Given the description of an element on the screen output the (x, y) to click on. 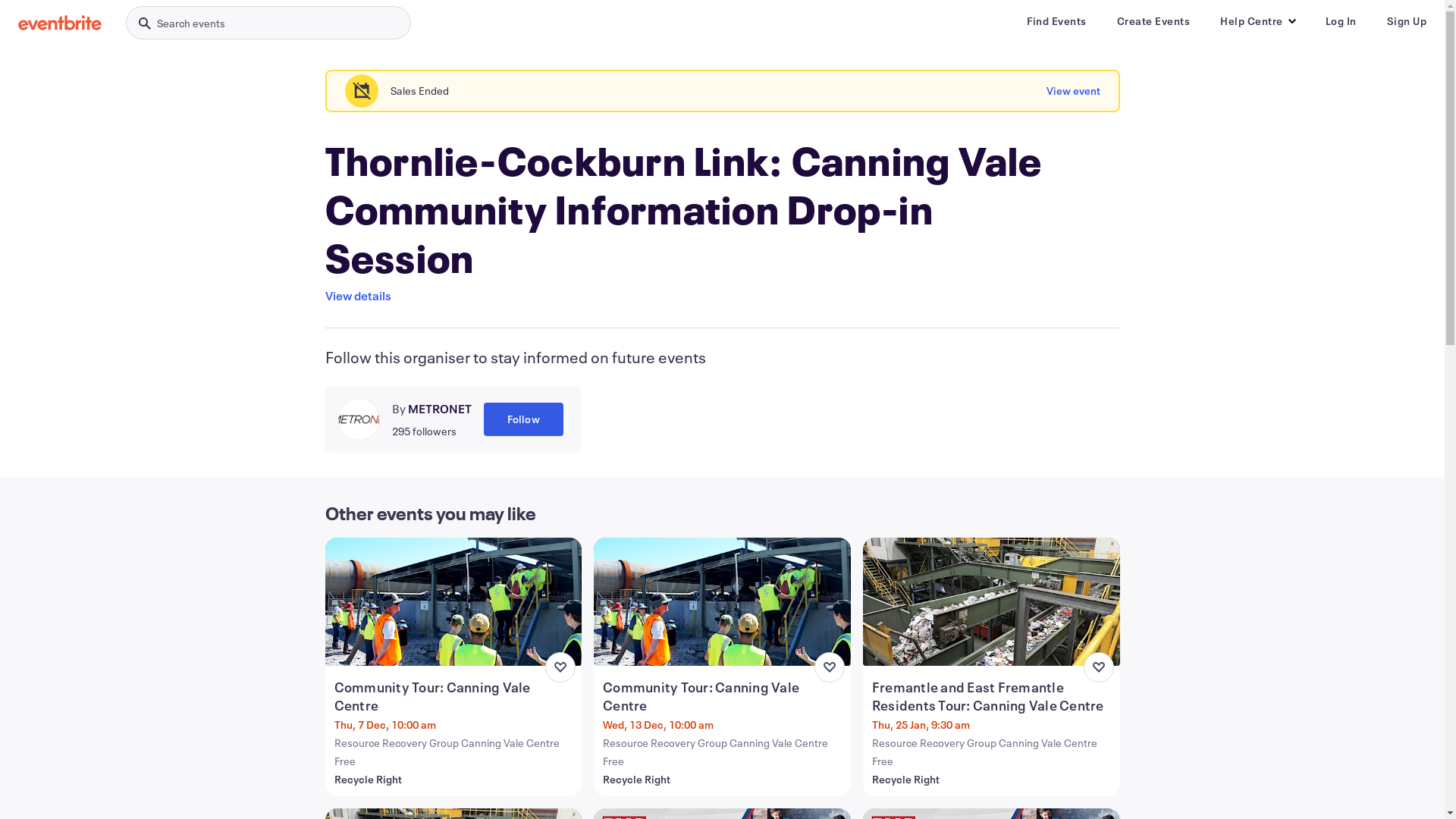
Search events Element type: text (268, 22)
Follow Element type: text (523, 419)
View event Element type: text (1073, 90)
Create Events Element type: text (1152, 21)
Sign Up Element type: text (1406, 21)
Community Tour: Canning Vale Centre Element type: text (454, 695)
Eventbrite Element type: hover (59, 22)
Community Tour: Canning Vale Centre Element type: text (723, 695)
Find Events Element type: text (1056, 21)
Log In Element type: text (1340, 21)
View details Element type: text (357, 295)
